Given the description of an element on the screen output the (x, y) to click on. 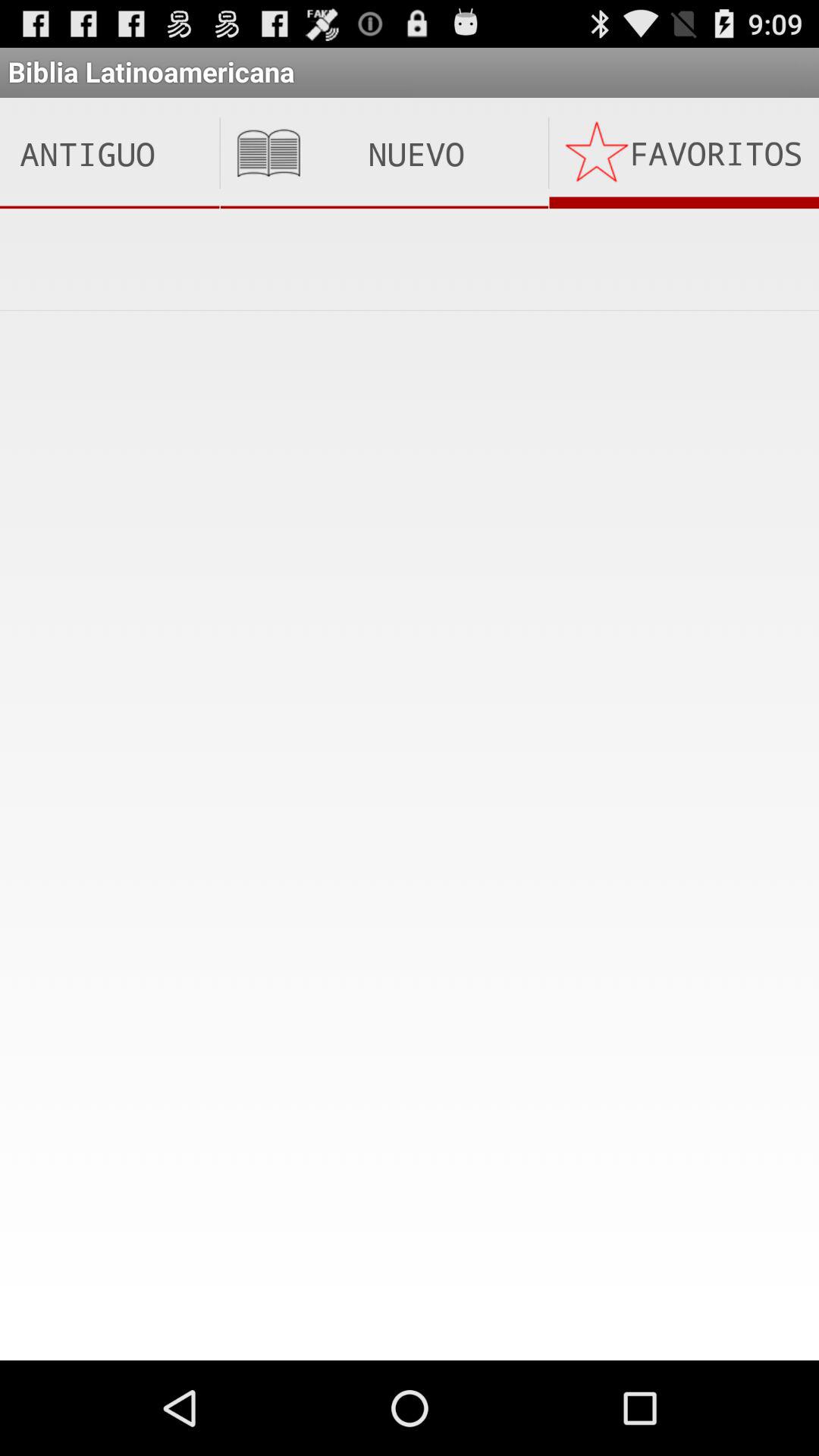
launch the icon below biblia latinoamericana app (384, 152)
